Given the description of an element on the screen output the (x, y) to click on. 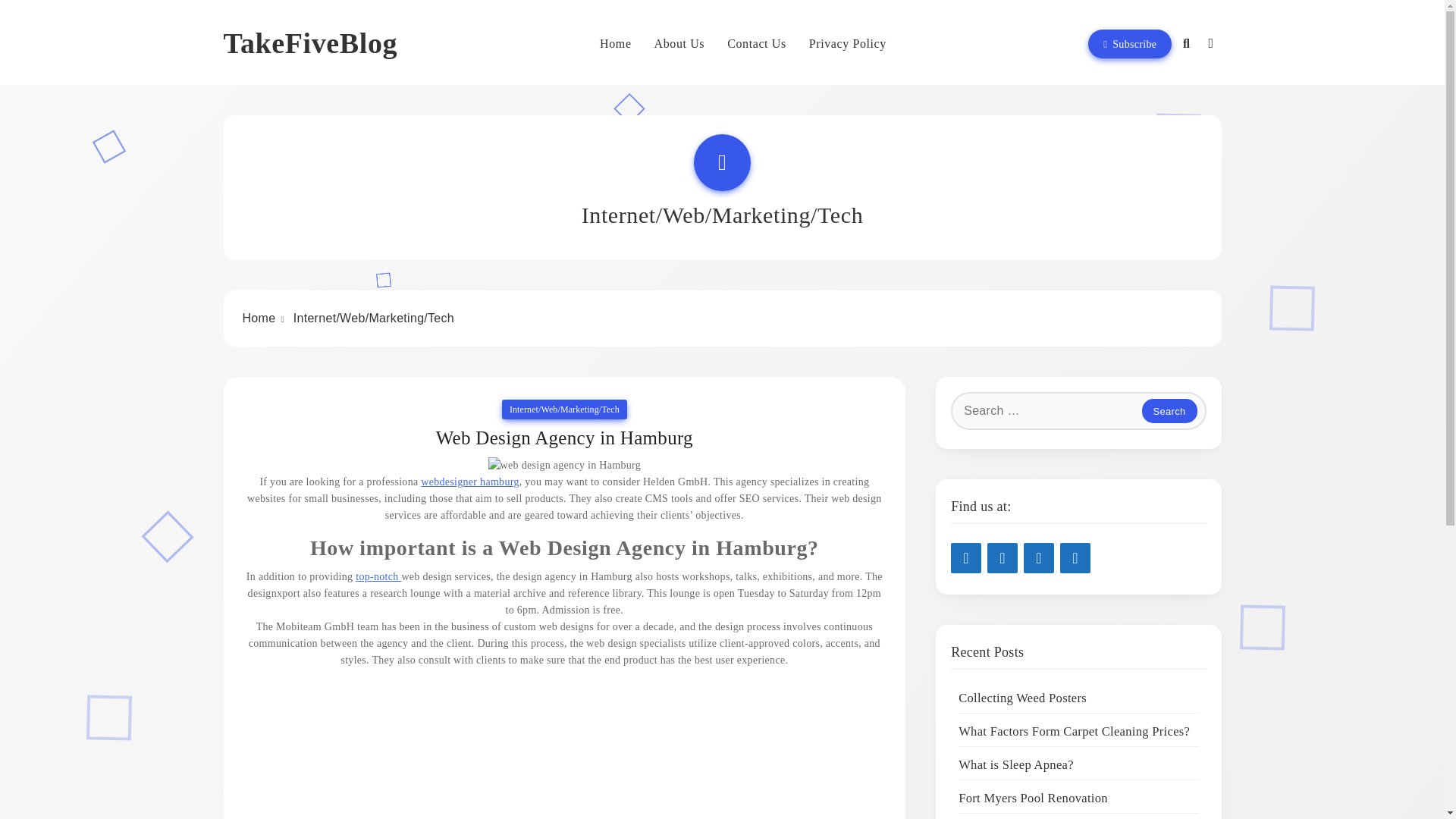
Facebook (1074, 557)
Web Design Agency in Hamburg (564, 438)
Twitter (1038, 557)
Collecting Weed Posters (1022, 698)
Privacy Policy (847, 44)
TakeFiveBlog (309, 42)
What is Sleep Apnea? (1016, 764)
About Us (678, 44)
top-notch (378, 576)
Search (1168, 410)
